Given the description of an element on the screen output the (x, y) to click on. 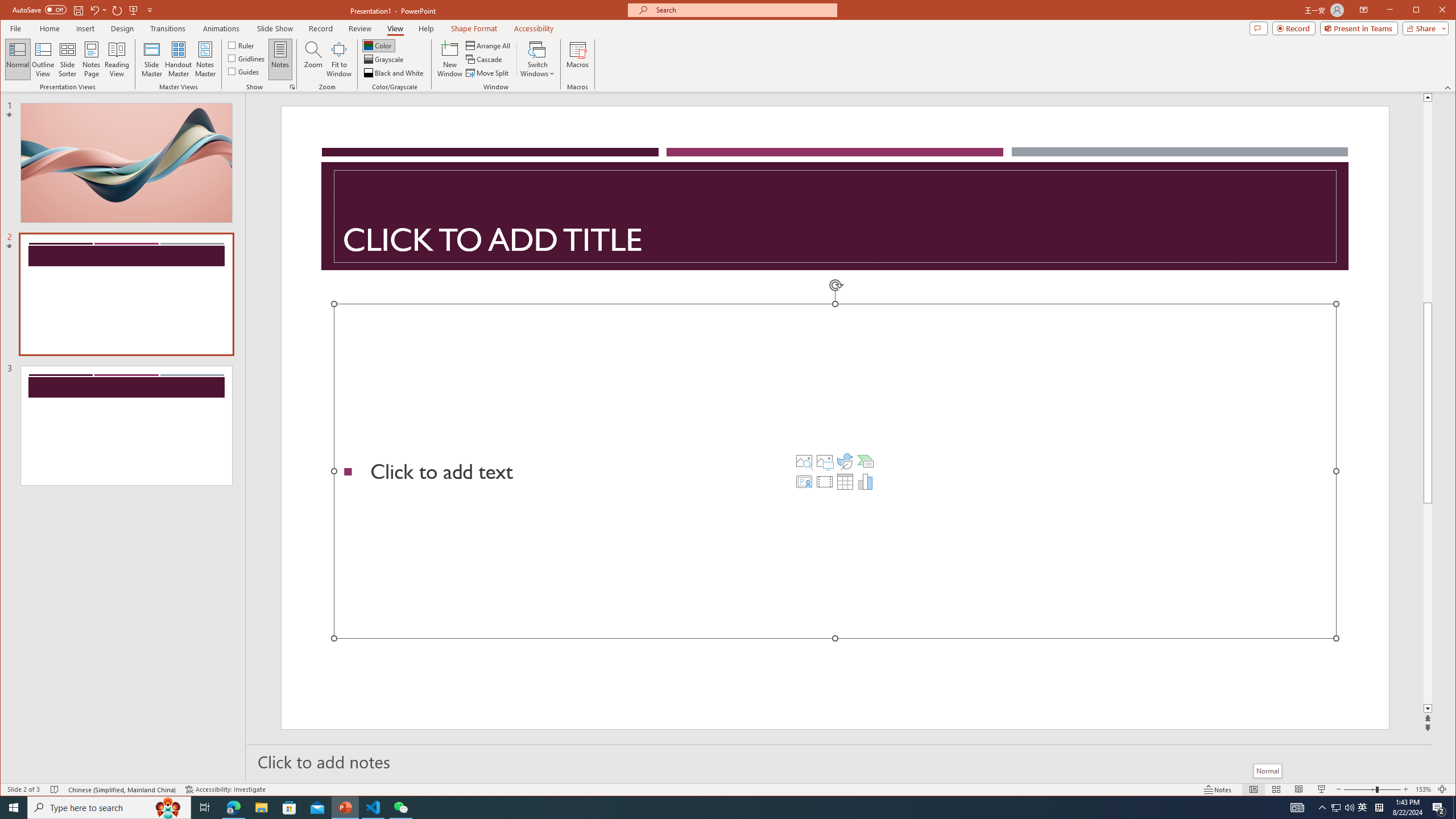
Switch Windows (537, 59)
Cascade (484, 59)
Ruler (241, 44)
